Given the description of an element on the screen output the (x, y) to click on. 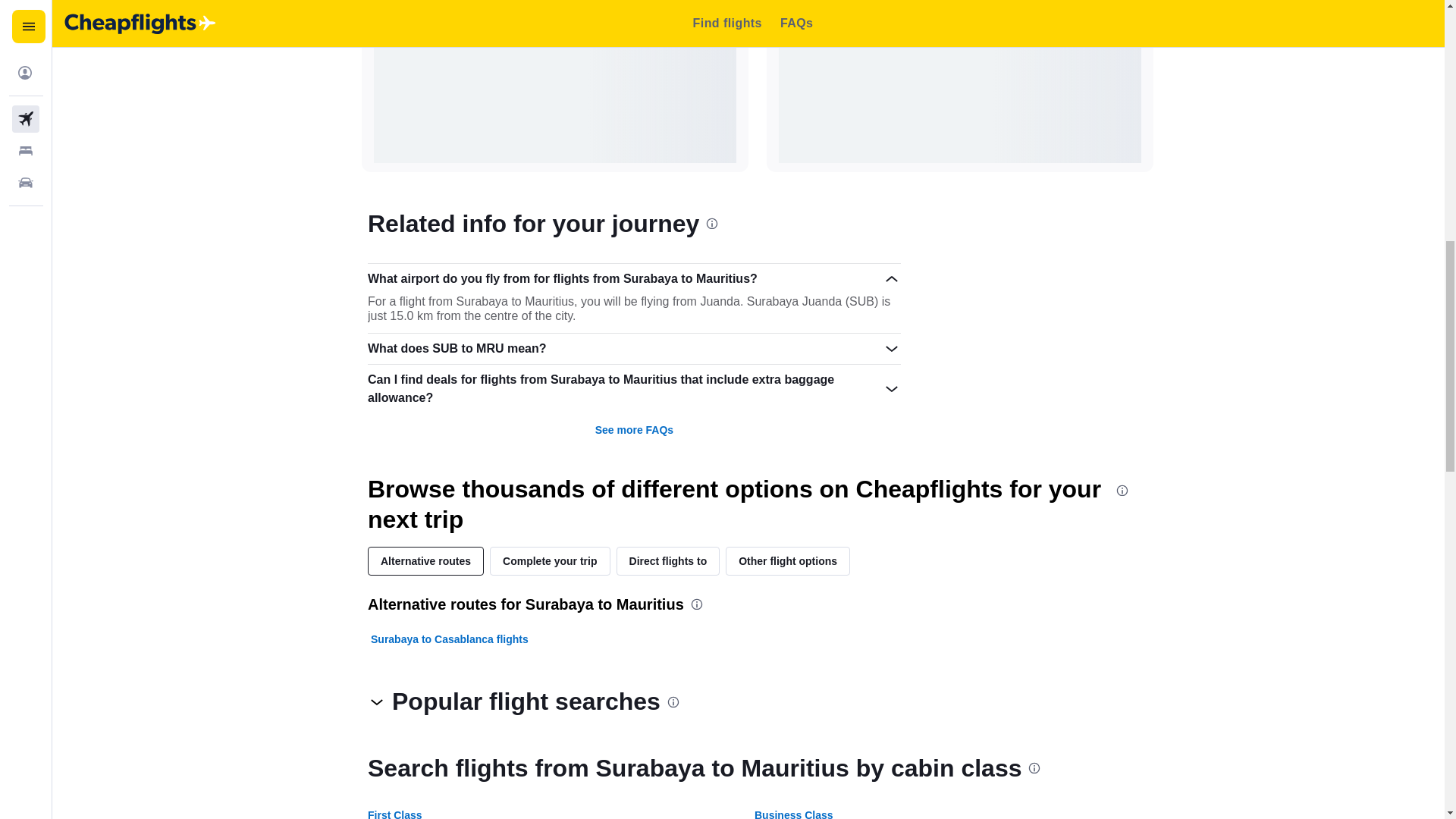
Complete your trip (549, 561)
Business Class (793, 814)
Direct flights to (667, 561)
Popular flight searches (523, 701)
First Class (395, 814)
Surabaya to Casablanca flights (449, 639)
Other flight options (787, 561)
Alternative routes (425, 561)
